Given the description of an element on the screen output the (x, y) to click on. 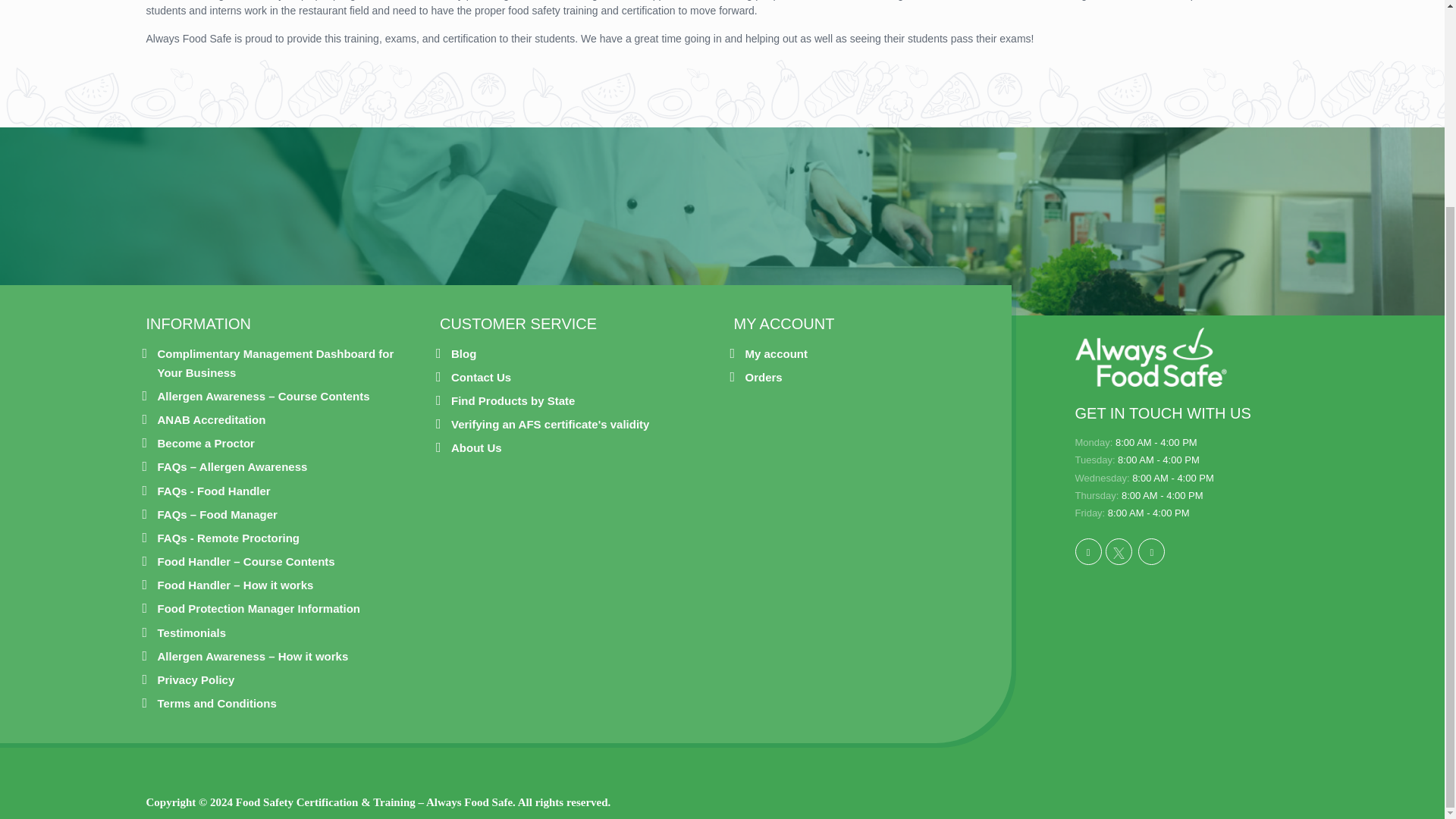
Blog (463, 353)
About Us (476, 447)
Terms and Conditions (216, 702)
Food Protection Manager Information (259, 608)
FAQs - Food Handler (213, 490)
Find Products by State (513, 400)
Contact Us (481, 376)
Privacy Policy (195, 679)
Testimonials (192, 632)
FAQs - Remote Proctoring (228, 537)
